Given the description of an element on the screen output the (x, y) to click on. 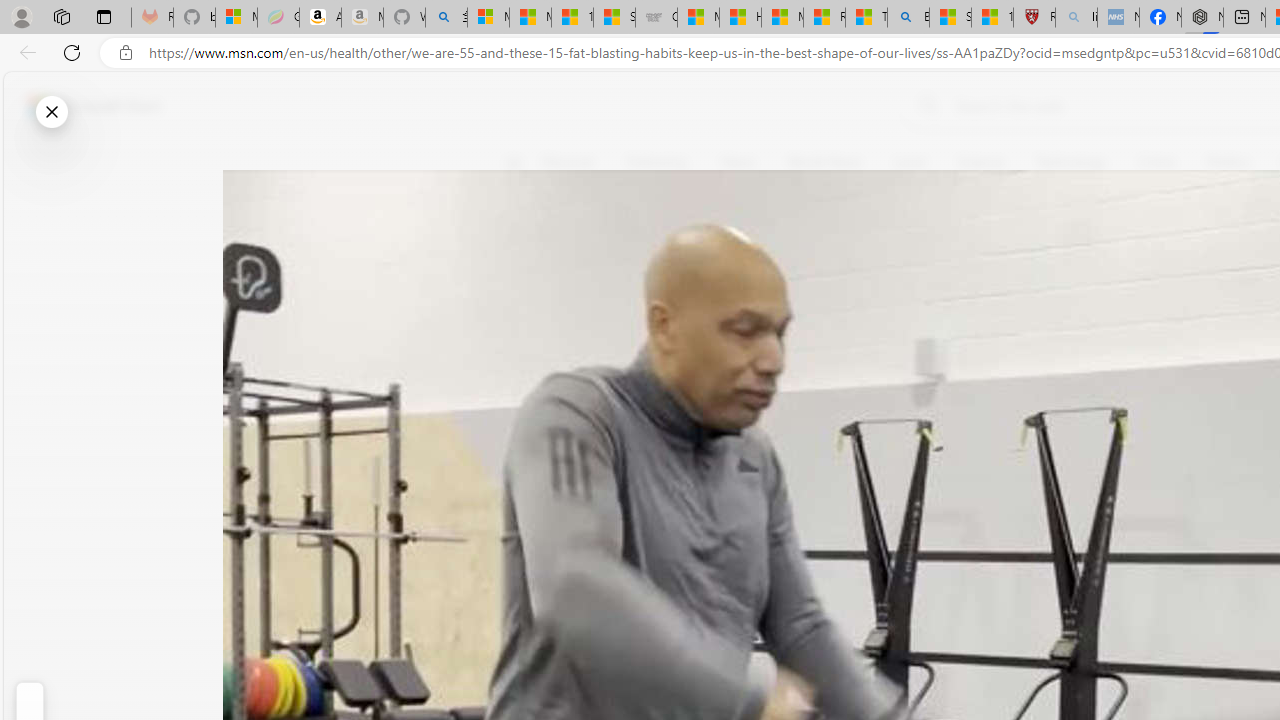
Follow (909, 258)
